Given the description of an element on the screen output the (x, y) to click on. 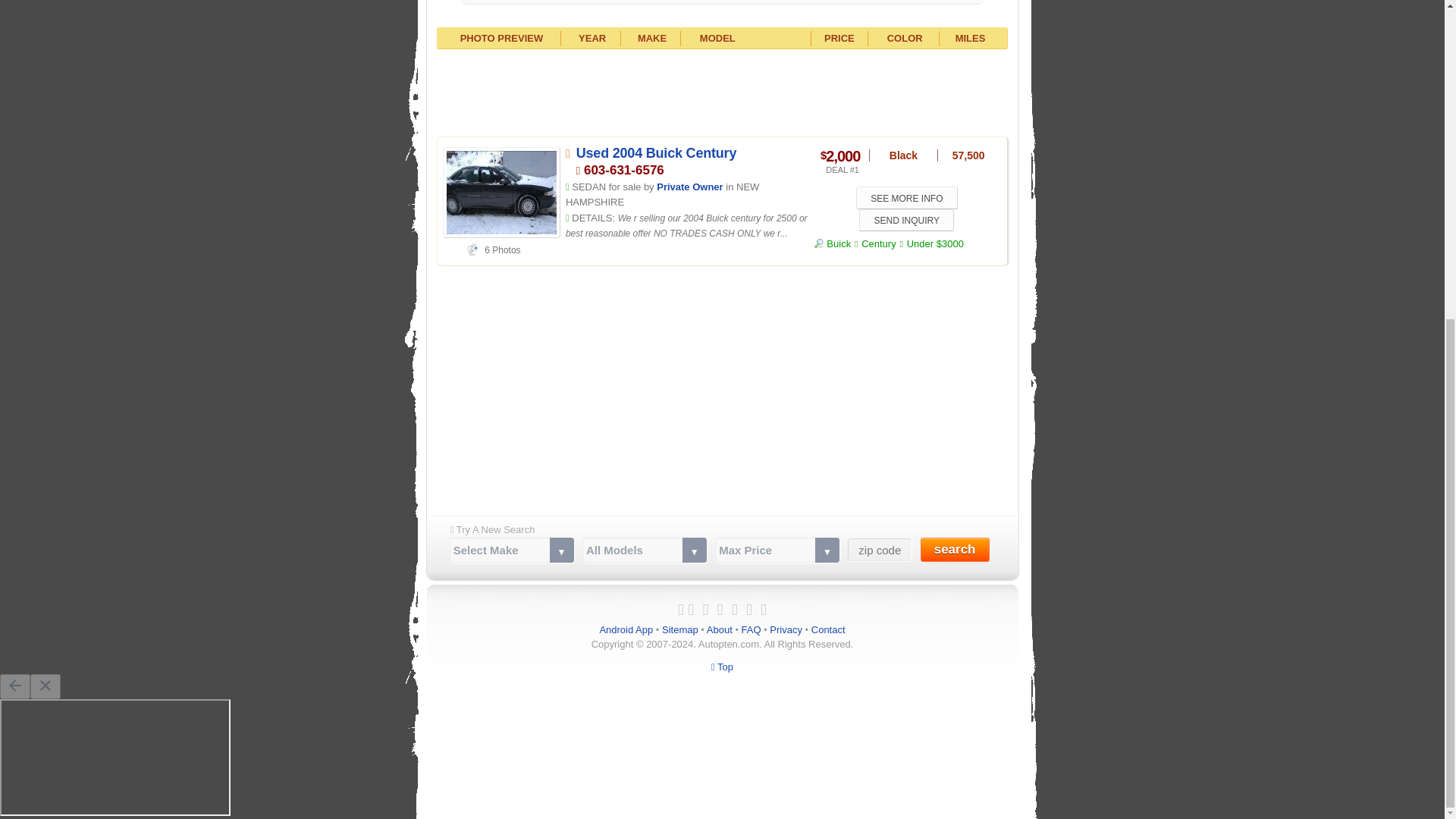
seller comments... (687, 225)
Seller info (689, 186)
Browse all used Buick Century available (878, 243)
Buick (831, 243)
Advertisement (721, 90)
SEE MORE INFO (907, 197)
Used 2004 Buick Century (656, 152)
Century (878, 243)
SEND INQUIRY (906, 219)
Browse all Buick cars listed (831, 243)
Private Owner (689, 186)
Advertisement (721, 379)
search (955, 549)
